Given the description of an element on the screen output the (x, y) to click on. 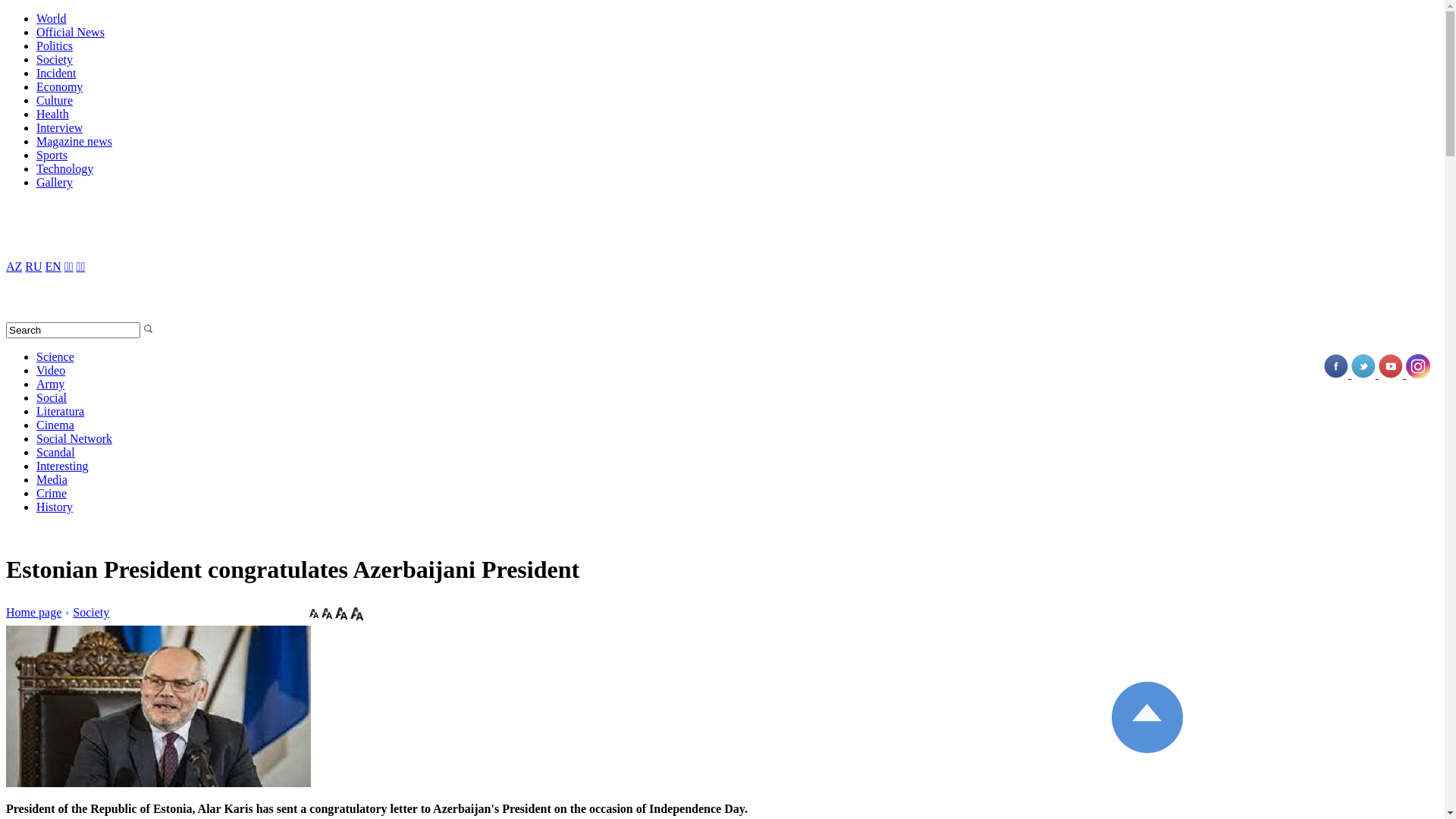
Army Element type: text (50, 383)
Twitter Element type: hover (1364, 373)
EN Element type: text (53, 266)
World Element type: text (51, 18)
Gallery Element type: text (54, 181)
Society Element type: text (86, 611)
Video Element type: text (50, 370)
Health Element type: text (52, 113)
Social Element type: text (51, 397)
Crime Element type: text (51, 492)
Magazine news Element type: text (74, 140)
UP Element type: text (1146, 717)
Literatura Element type: text (60, 410)
AZ Element type: text (13, 266)
Home page Element type: text (33, 611)
Politics Element type: text (54, 45)
Interesting Element type: text (61, 465)
Youtube Element type: hover (1391, 373)
Social Network Element type: text (74, 438)
Culture Element type: text (54, 100)
Instagram Element type: hover (1417, 373)
Facebook Element type: hover (1337, 373)
Incident Element type: text (55, 72)
Sports Element type: text (51, 154)
History Element type: text (54, 506)
RU Element type: text (33, 266)
Science Element type: text (55, 356)
Media Element type: text (51, 479)
Technology Element type: text (64, 168)
Official News Element type: text (70, 31)
Interview Element type: text (59, 127)
Economy Element type: text (59, 86)
Scandal Element type: text (55, 451)
Society Element type: text (54, 59)
Cinema Element type: text (55, 424)
